Given the description of an element on the screen output the (x, y) to click on. 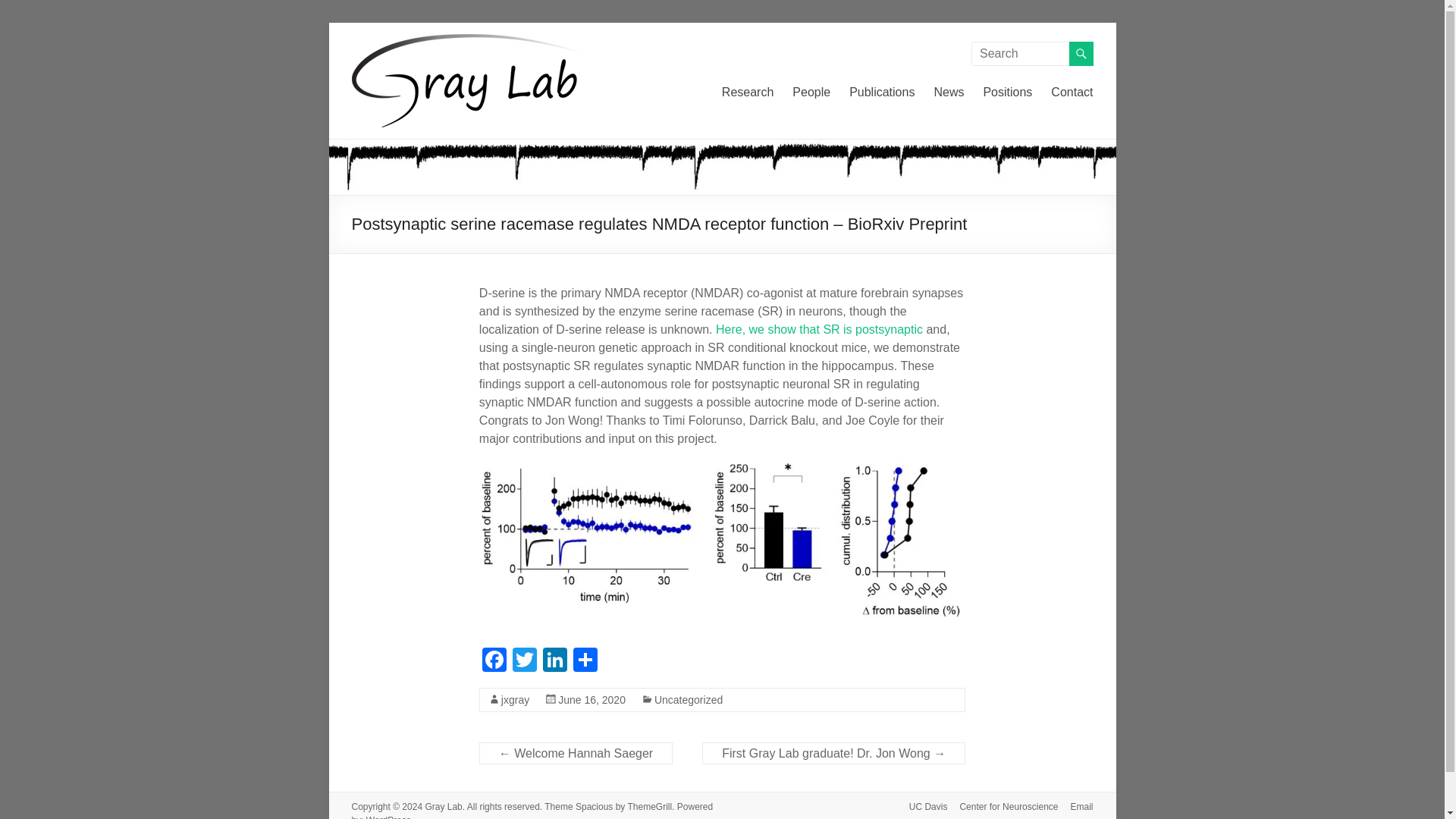
WordPress (388, 816)
Here, we show that SR is postsynaptic (819, 328)
Email (1075, 806)
WordPress (388, 816)
Twitter (524, 661)
Contact (1072, 92)
Gray Lab (379, 68)
News (948, 92)
Gray Lab (443, 805)
Positions (1007, 92)
Gray Lab (379, 68)
2:32 pm (591, 698)
Facebook (494, 661)
People (810, 92)
